Given the description of an element on the screen output the (x, y) to click on. 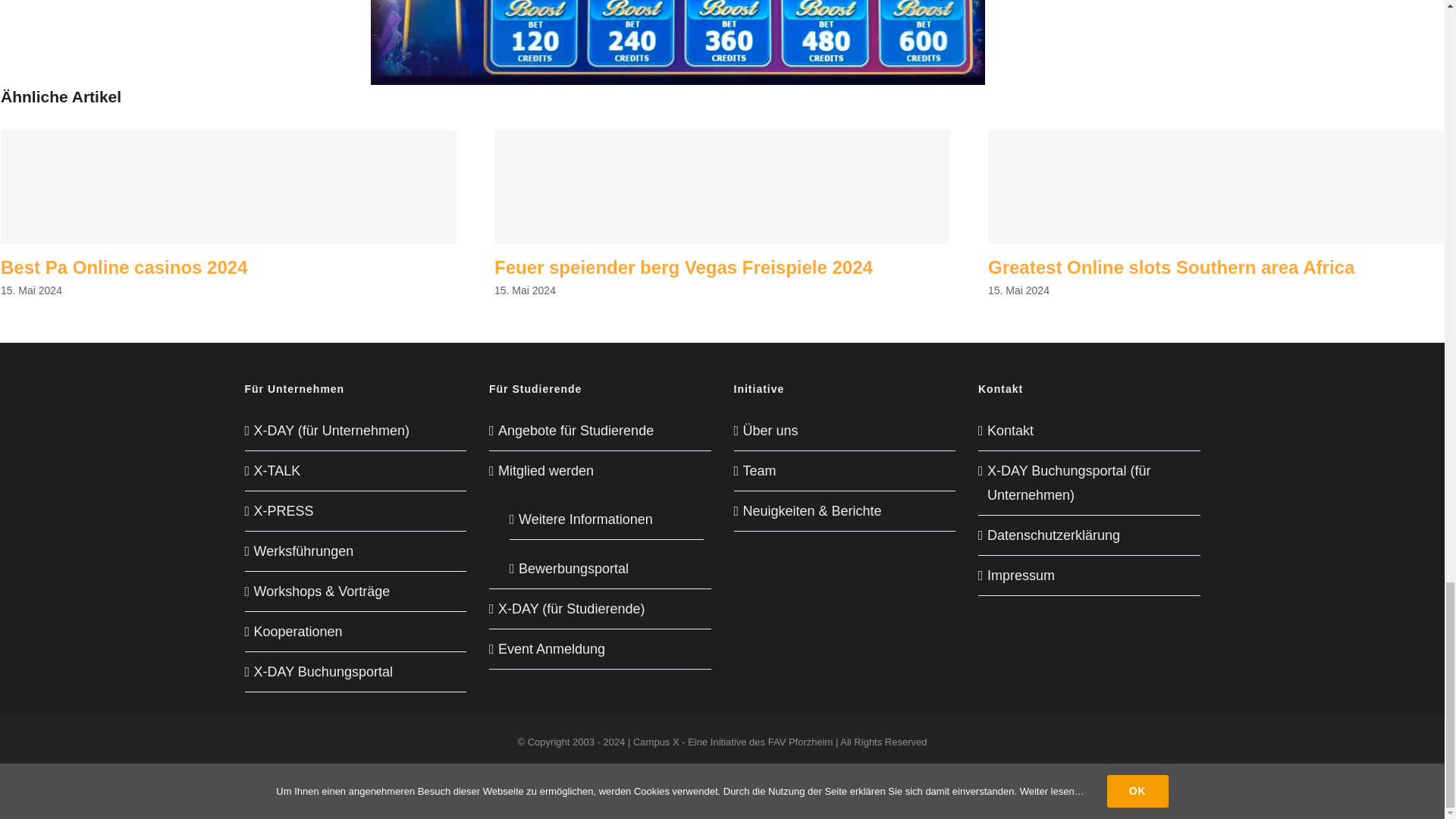
Best Pa Online casinos 2024 (124, 267)
Feuer speiender berg Vegas Freispiele 2024 (683, 267)
X-TALK (355, 470)
Feuer speiender berg Vegas Freispiele 2024 (683, 267)
Kooperationen (355, 631)
X-PRESS (355, 510)
Greatest Online slots Southern area Africa (1171, 267)
Best Pa Online casinos 2024 (124, 267)
Greatest Online slots Southern area Africa (1171, 267)
